Given the description of an element on the screen output the (x, y) to click on. 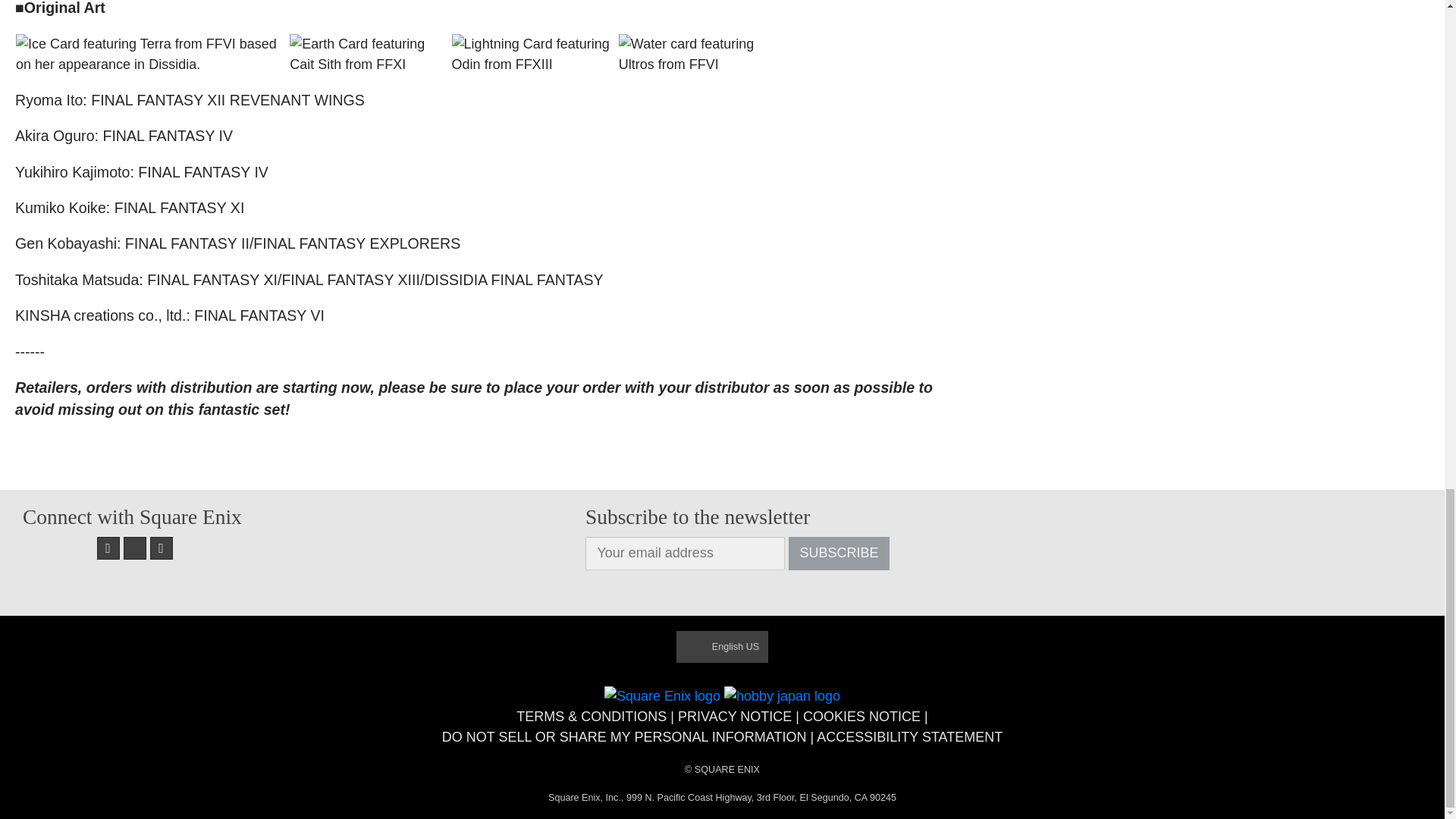
English US (721, 646)
COOKIES NOTICE (861, 716)
DO NOT SELL OR SHARE MY PERSONAL INFORMATION (624, 736)
ACCESSIBILITY STATEMENT (909, 736)
SUBSCRIBE (839, 553)
PRIVACY NOTICE (735, 716)
English US (721, 646)
X (134, 547)
